Given the description of an element on the screen output the (x, y) to click on. 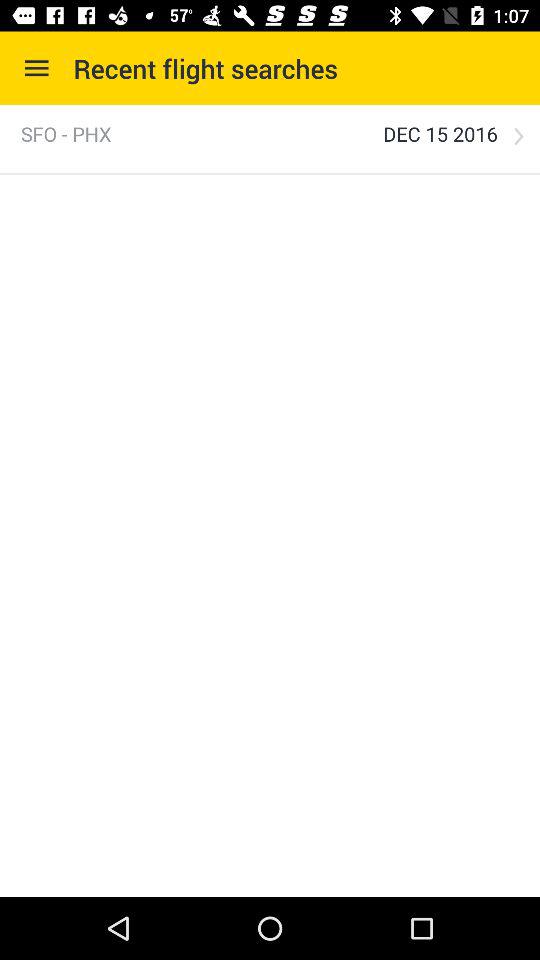
tap dec 15 2016 (440, 133)
